Given the description of an element on the screen output the (x, y) to click on. 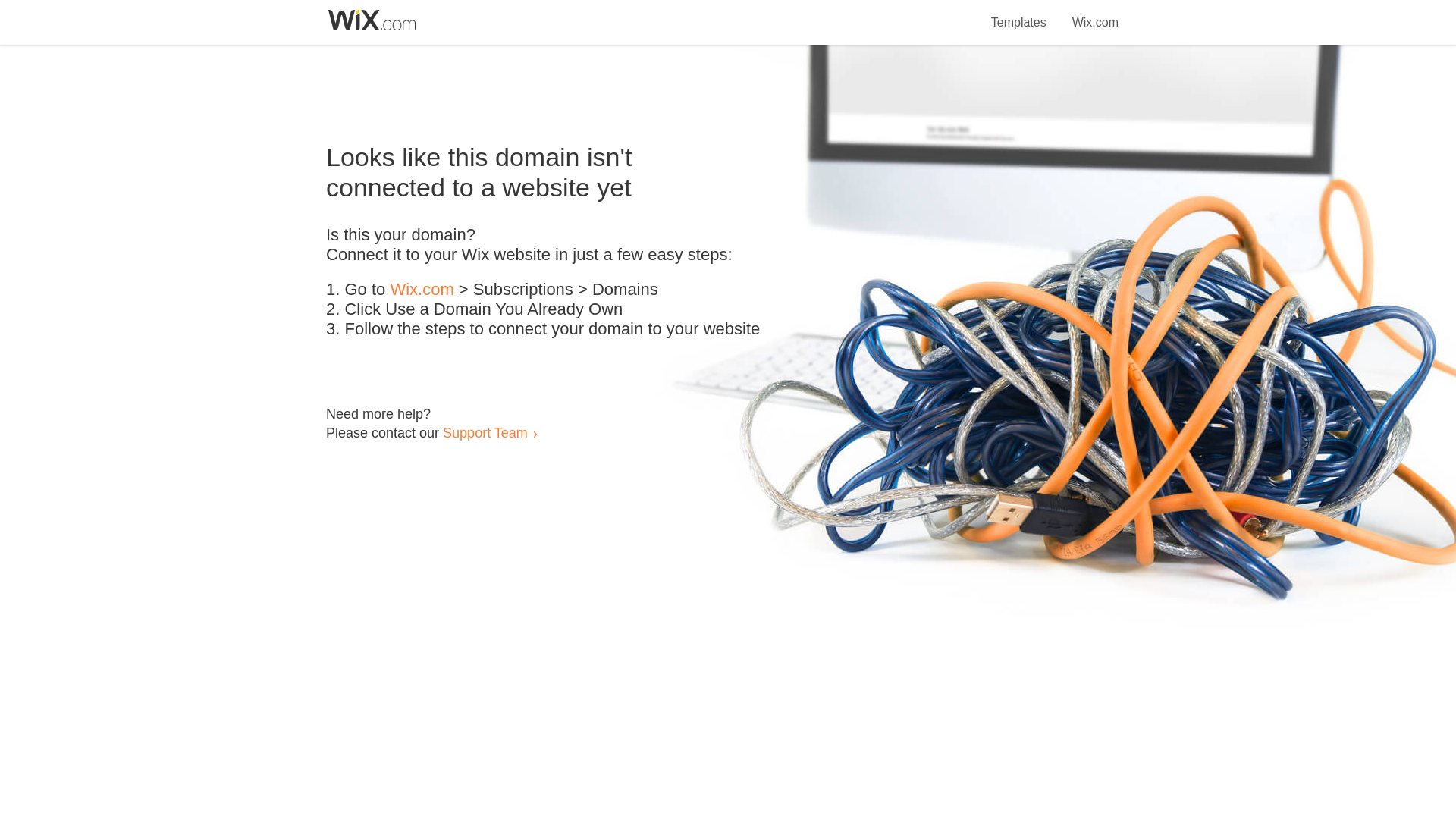
Templates (1018, 14)
Wix.com (1095, 14)
Wix.com (421, 289)
Support Team (484, 432)
